Given the description of an element on the screen output the (x, y) to click on. 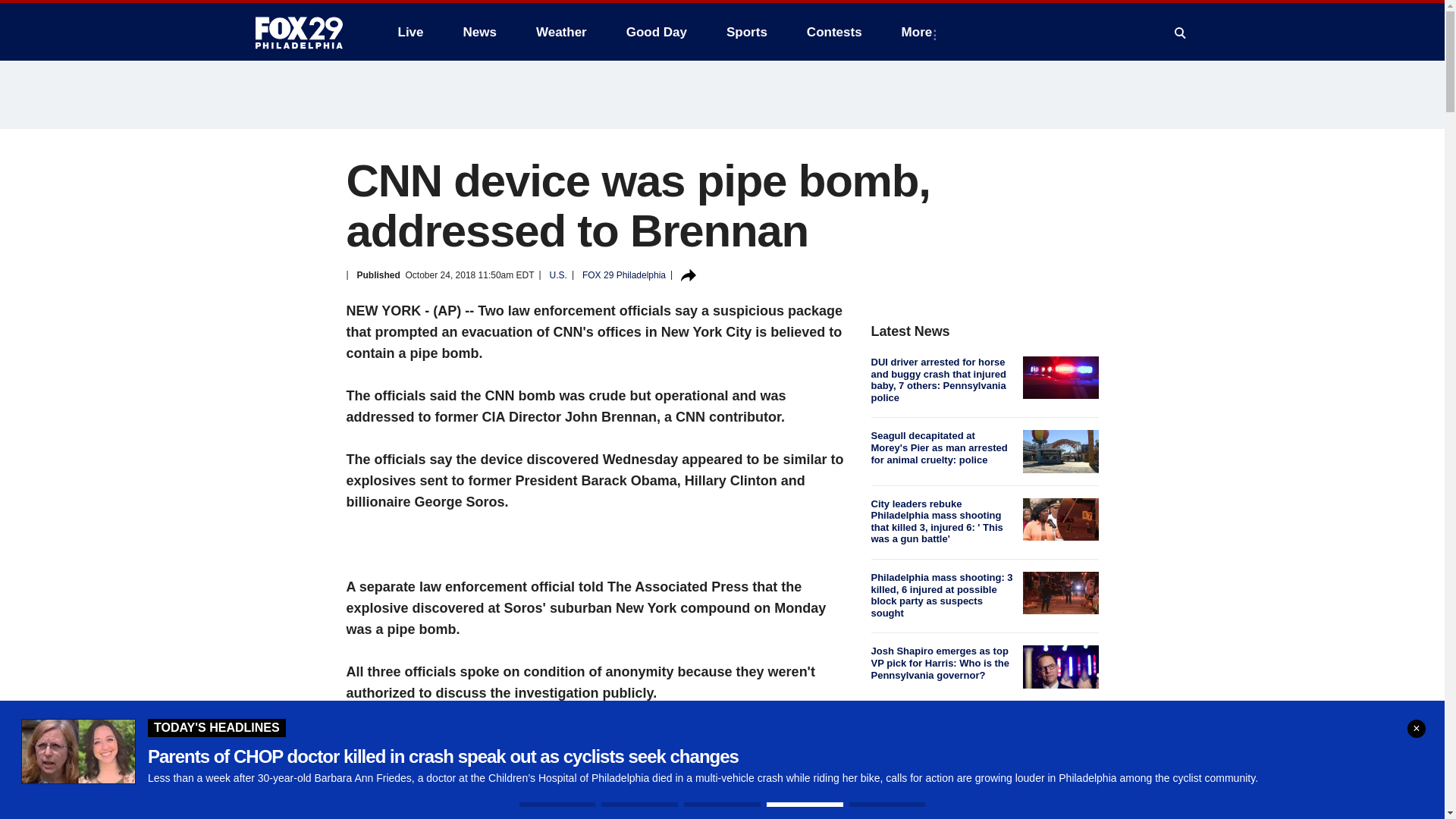
Weather (561, 32)
News (479, 32)
Good Day (656, 32)
Sports (746, 32)
Contests (834, 32)
More (919, 32)
Live (410, 32)
